Given the description of an element on the screen output the (x, y) to click on. 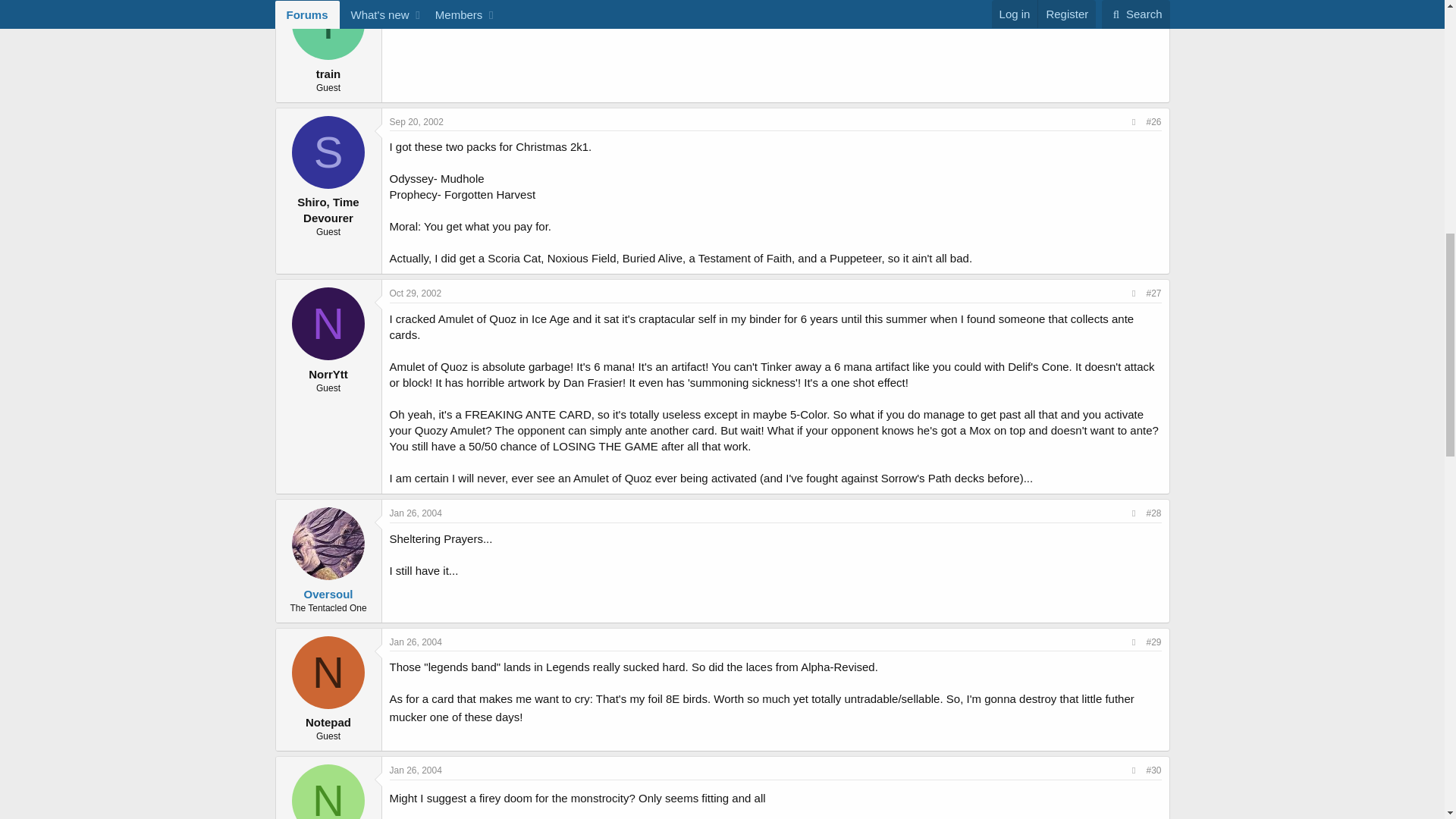
Big grin    :D (534, 714)
Sep 20, 2002 at 8:14 AM (417, 122)
Roll eyes    :rolleyes: (777, 795)
Jan 26, 2004 at 8:31 AM (416, 769)
Jan 26, 2004 at 3:47 AM (416, 512)
Oct 29, 2002 at 4:40 AM (416, 293)
Jan 26, 2004 at 4:01 AM (416, 642)
